Given the description of an element on the screen output the (x, y) to click on. 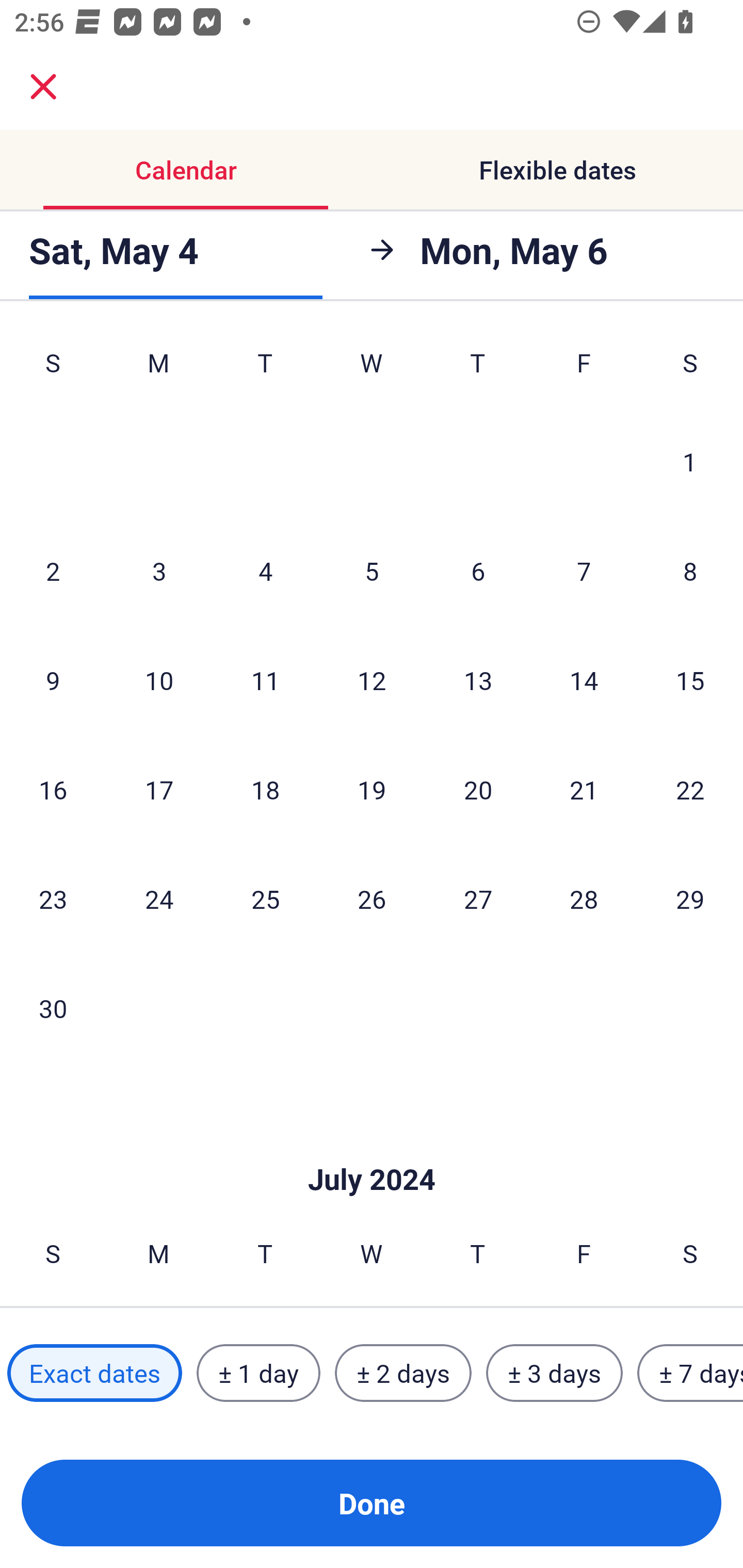
close. (43, 86)
Flexible dates (557, 170)
1 Saturday, June 1, 2024 (689, 461)
2 Sunday, June 2, 2024 (53, 570)
3 Monday, June 3, 2024 (159, 570)
4 Tuesday, June 4, 2024 (265, 570)
5 Wednesday, June 5, 2024 (371, 570)
6 Thursday, June 6, 2024 (477, 570)
7 Friday, June 7, 2024 (584, 570)
8 Saturday, June 8, 2024 (690, 570)
9 Sunday, June 9, 2024 (53, 679)
10 Monday, June 10, 2024 (159, 679)
11 Tuesday, June 11, 2024 (265, 679)
12 Wednesday, June 12, 2024 (371, 679)
13 Thursday, June 13, 2024 (477, 679)
14 Friday, June 14, 2024 (584, 679)
15 Saturday, June 15, 2024 (690, 679)
16 Sunday, June 16, 2024 (53, 789)
17 Monday, June 17, 2024 (159, 789)
18 Tuesday, June 18, 2024 (265, 789)
19 Wednesday, June 19, 2024 (371, 789)
20 Thursday, June 20, 2024 (477, 789)
21 Friday, June 21, 2024 (584, 789)
22 Saturday, June 22, 2024 (690, 789)
23 Sunday, June 23, 2024 (53, 898)
24 Monday, June 24, 2024 (159, 898)
25 Tuesday, June 25, 2024 (265, 898)
26 Wednesday, June 26, 2024 (371, 898)
27 Thursday, June 27, 2024 (477, 898)
28 Friday, June 28, 2024 (584, 898)
29 Saturday, June 29, 2024 (690, 898)
30 Sunday, June 30, 2024 (53, 1007)
Skip to Done (371, 1148)
Exact dates (94, 1372)
± 1 day (258, 1372)
± 2 days (403, 1372)
± 3 days (553, 1372)
± 7 days (690, 1372)
Done (371, 1502)
